Given the description of an element on the screen output the (x, y) to click on. 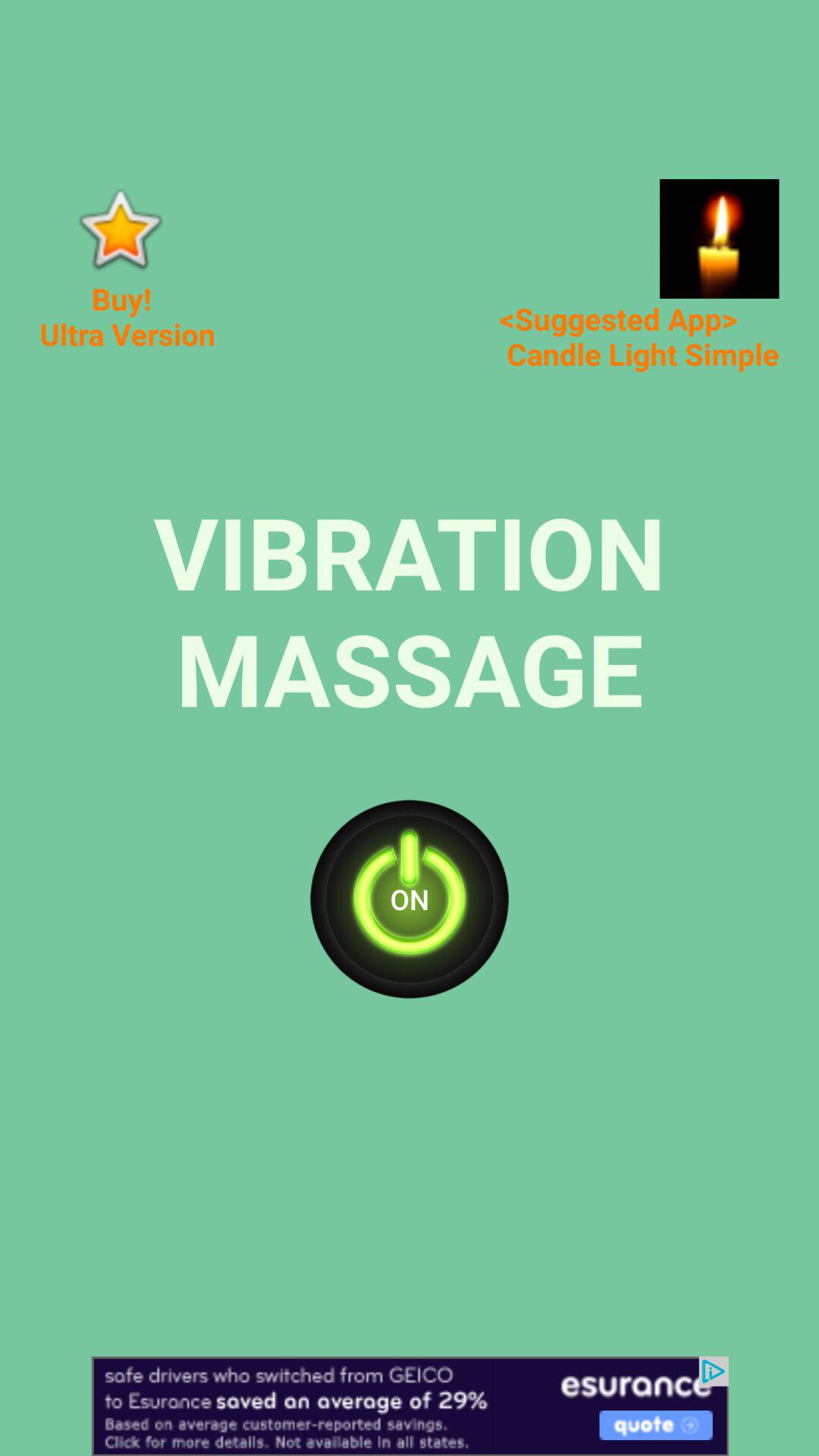
open advertisement (409, 1406)
